Given the description of an element on the screen output the (x, y) to click on. 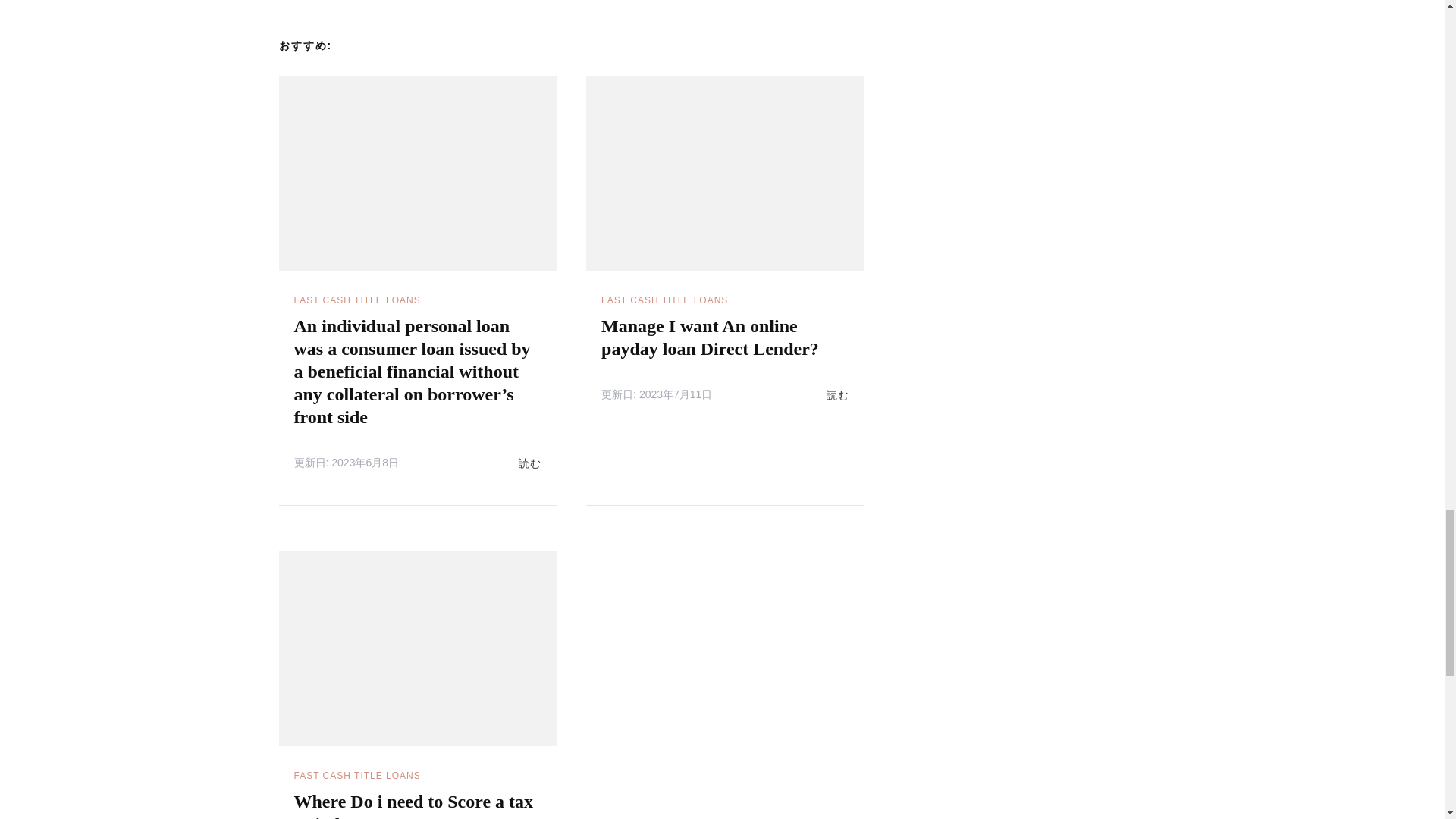
FAST CASH TITLE LOANS (664, 300)
Manage I want An online payday loan Direct Lender? (709, 337)
FAST CASH TITLE LOANS (357, 300)
